Given the description of an element on the screen output the (x, y) to click on. 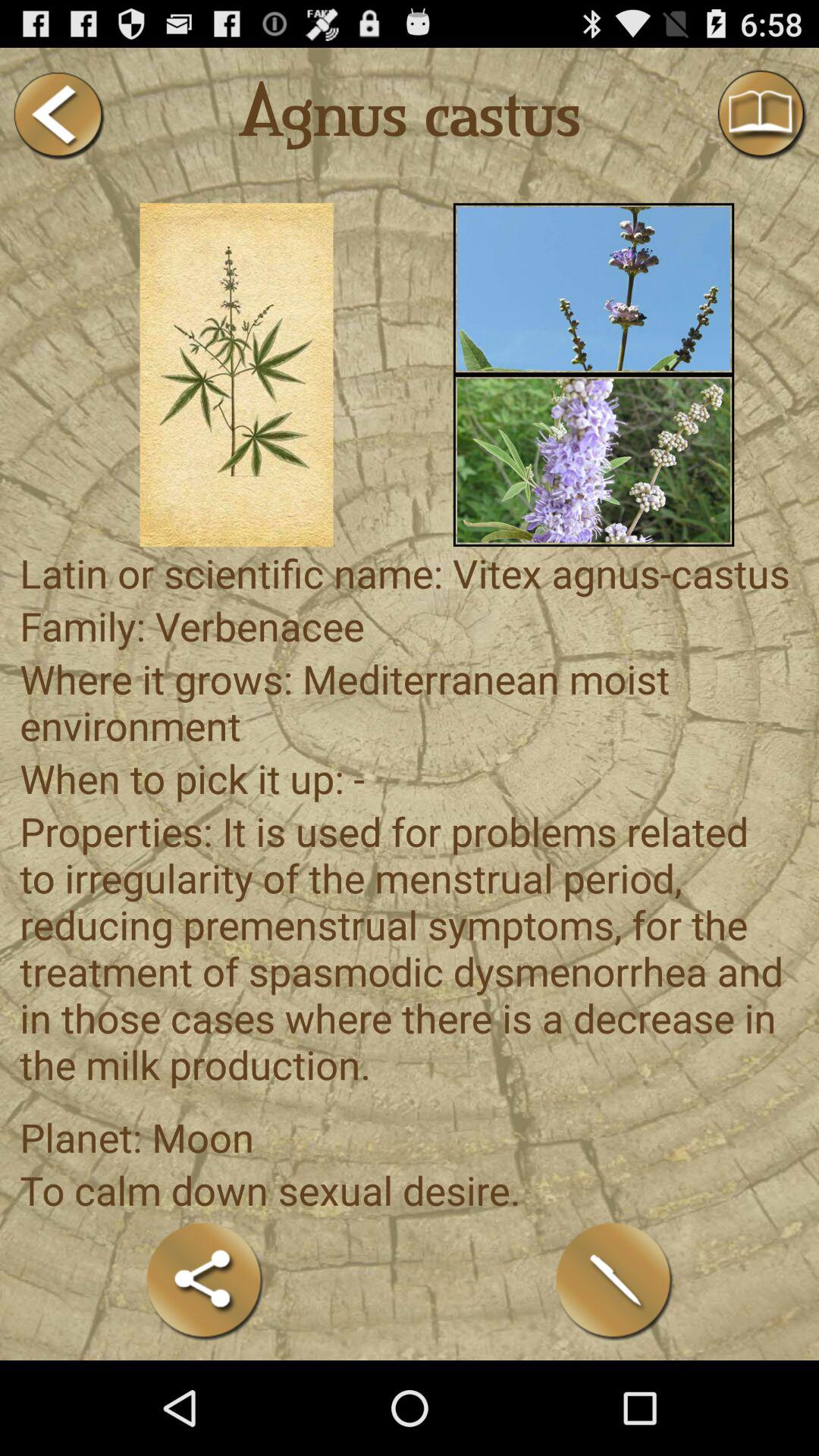
share button (204, 1280)
